Given the description of an element on the screen output the (x, y) to click on. 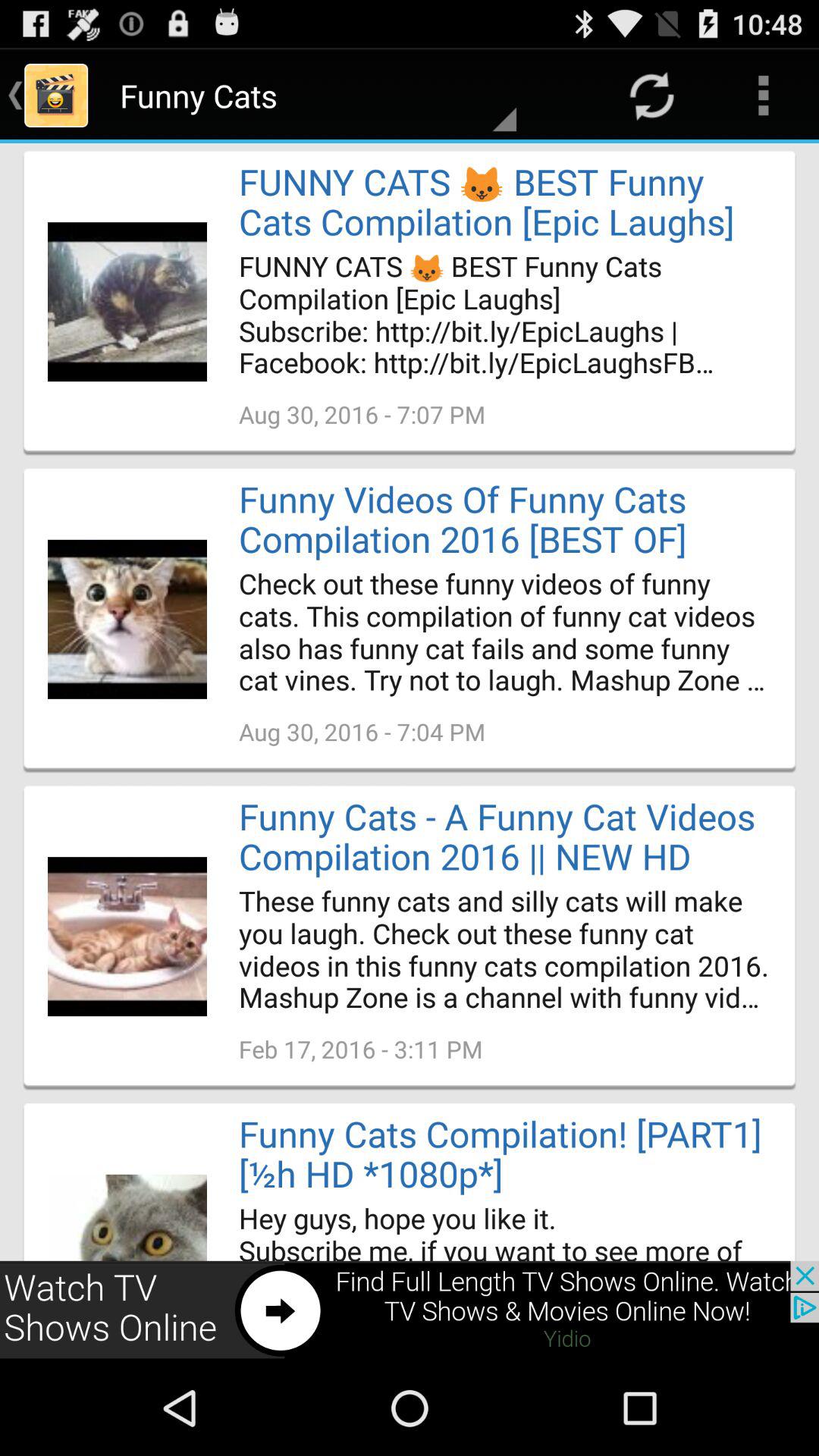
advertisement page (409, 1310)
